Given the description of an element on the screen output the (x, y) to click on. 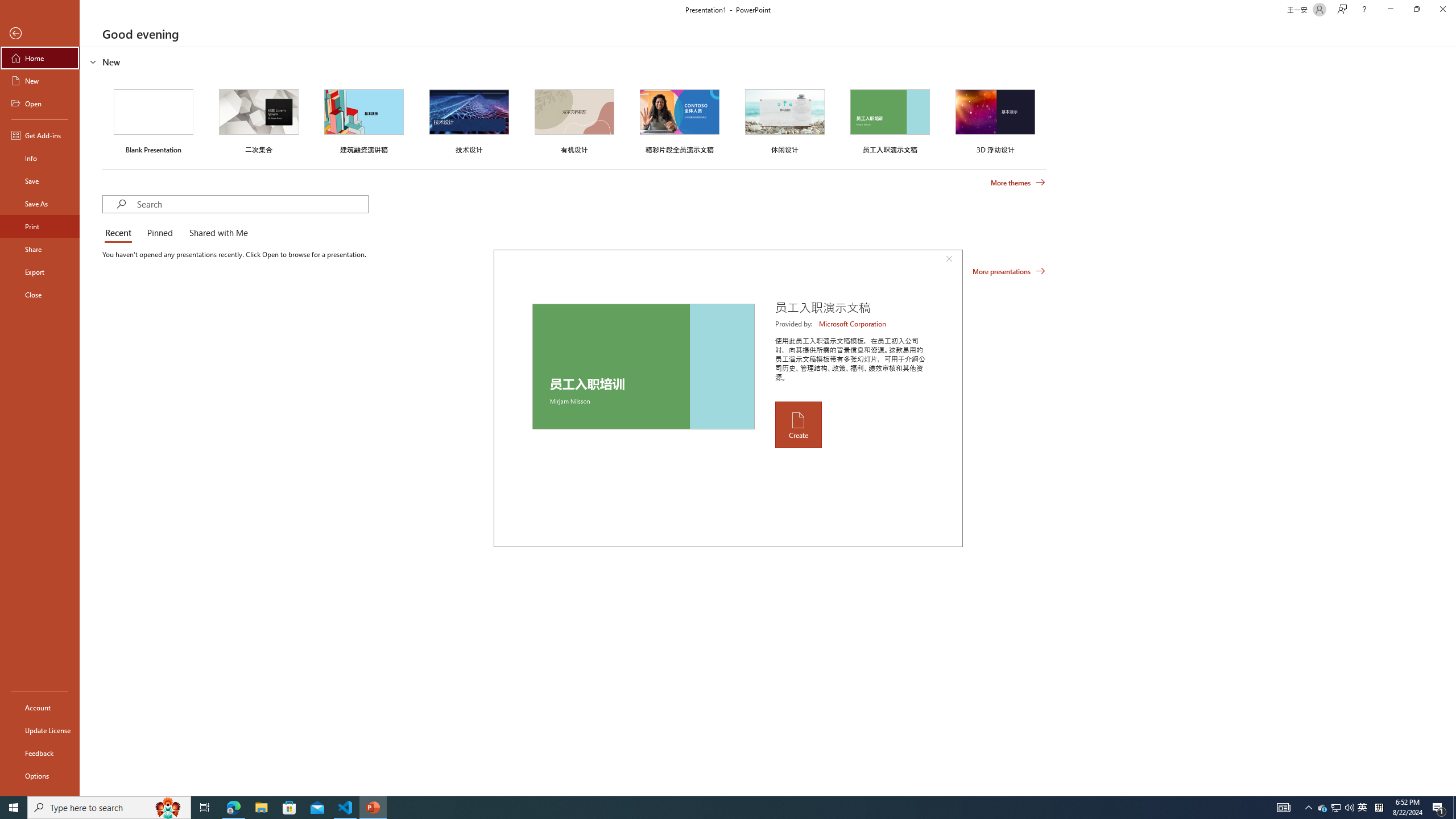
Share (40, 248)
Pinned (159, 233)
Options (40, 775)
Hide or show region (92, 61)
Account (40, 707)
Save (40, 180)
More themes (1018, 182)
Create (797, 424)
Close (1442, 9)
Print (40, 225)
